Given the description of an element on the screen output the (x, y) to click on. 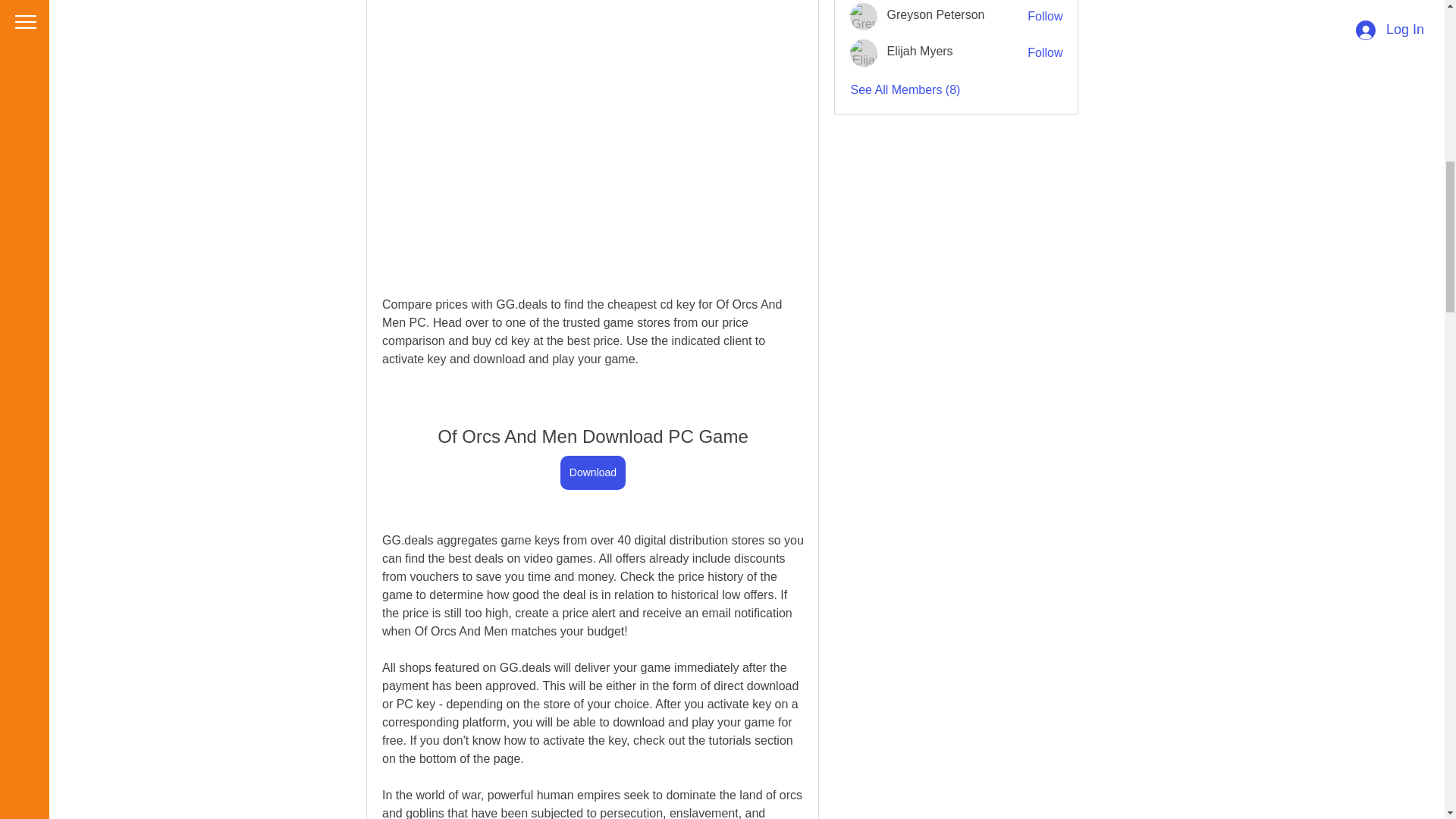
Elijah Myers (919, 51)
Download (591, 472)
Follow (1044, 53)
Greyson Peterson (863, 16)
Elijah Myers (863, 52)
Follow (1044, 16)
Greyson Peterson (935, 14)
